Given the description of an element on the screen output the (x, y) to click on. 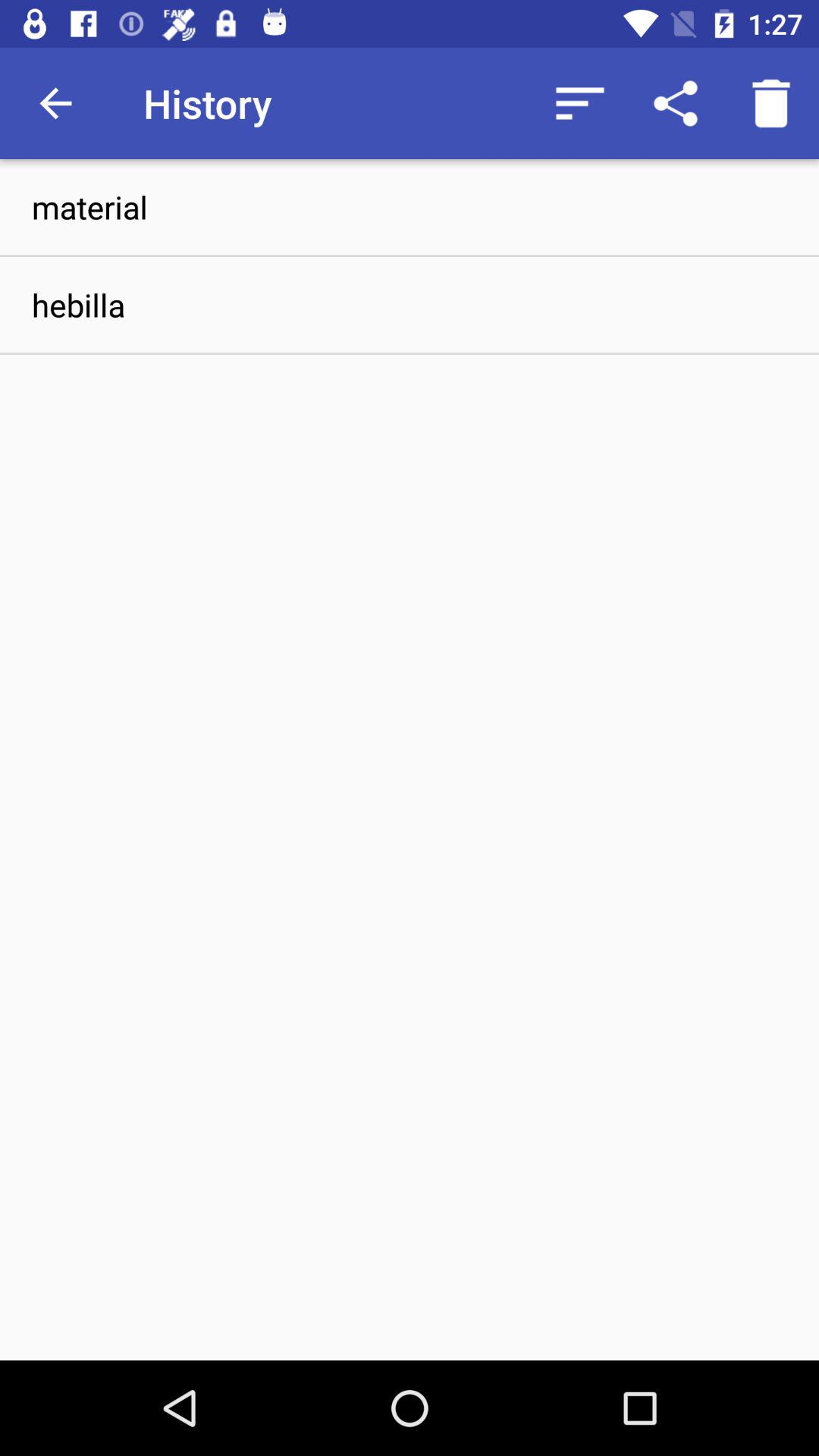
tap icon above material item (55, 103)
